Given the description of an element on the screen output the (x, y) to click on. 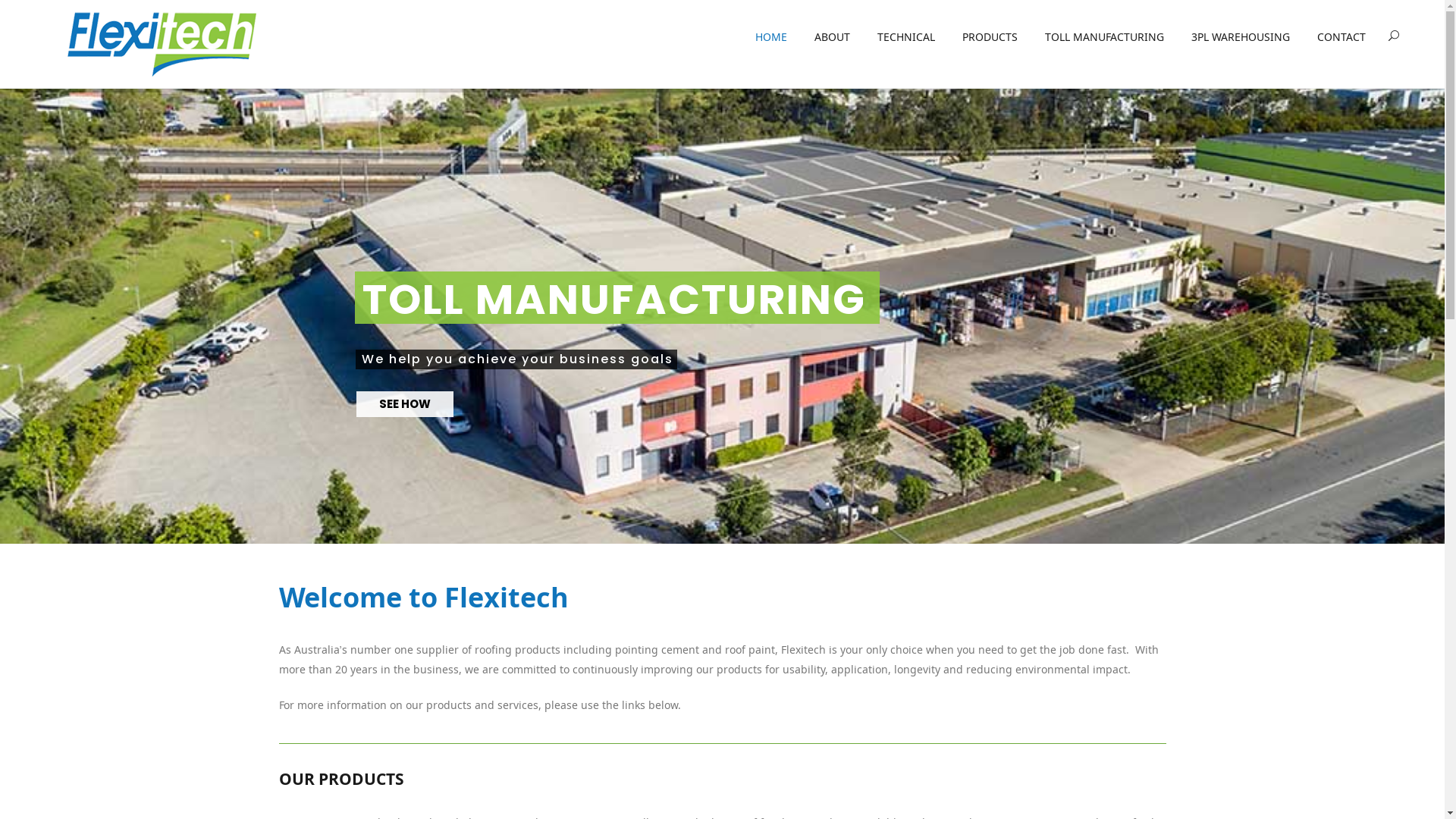
TOLL MANUFACTURING Element type: text (1104, 37)
3PL WAREHOUSING Element type: text (1240, 37)
HOME Element type: text (770, 37)
PRODUCTS Element type: text (989, 37)
TECHNICAL Element type: text (905, 37)
ABOUT Element type: text (831, 37)
CONTACT Element type: text (1334, 37)
SEE HOW Element type: text (404, 404)
